Given the description of an element on the screen output the (x, y) to click on. 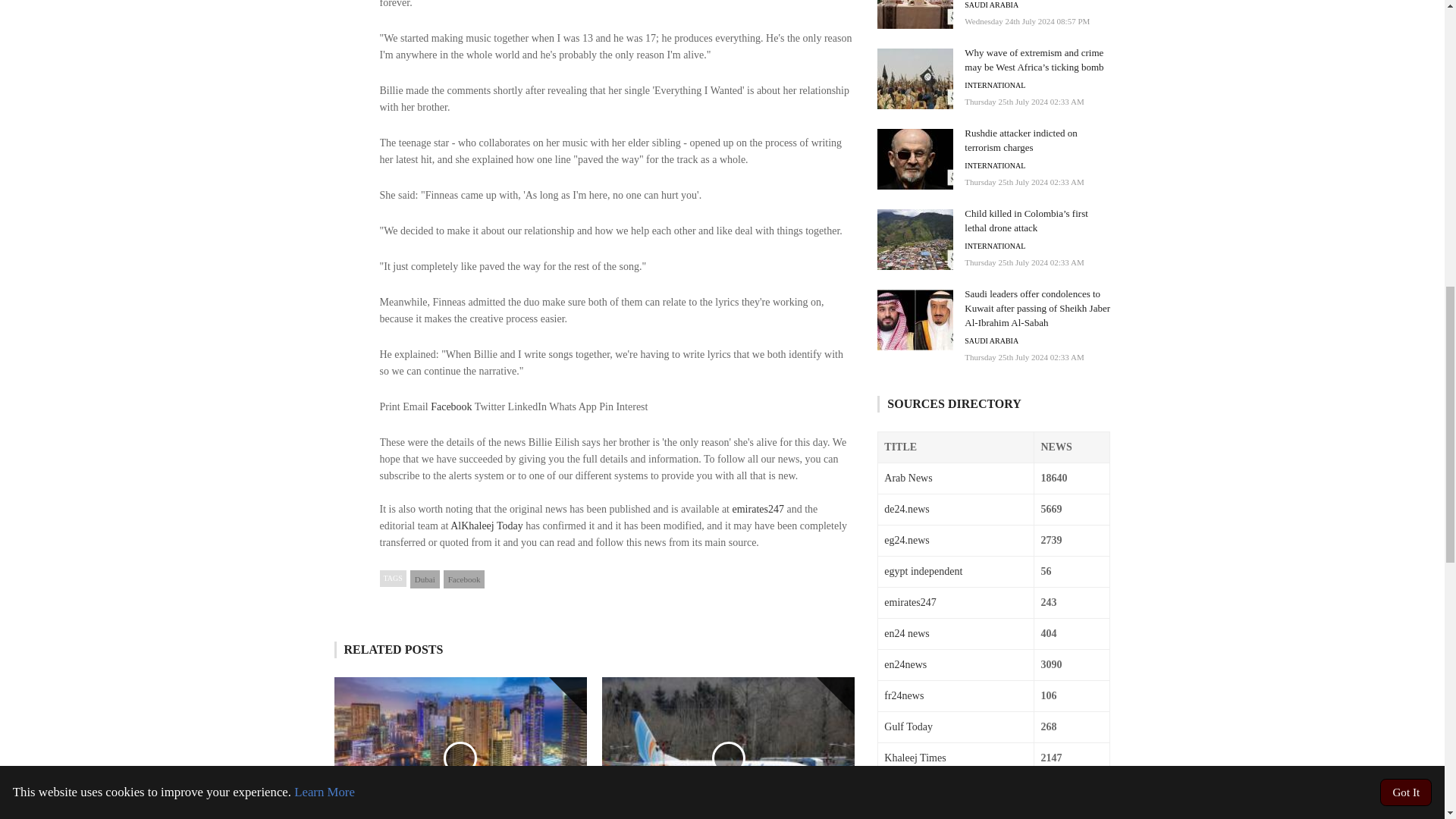
emirates247 (758, 509)
Facebook (450, 406)
AlKhaleej Today (485, 525)
Dubai (424, 579)
Facebook (464, 579)
